Given the description of an element on the screen output the (x, y) to click on. 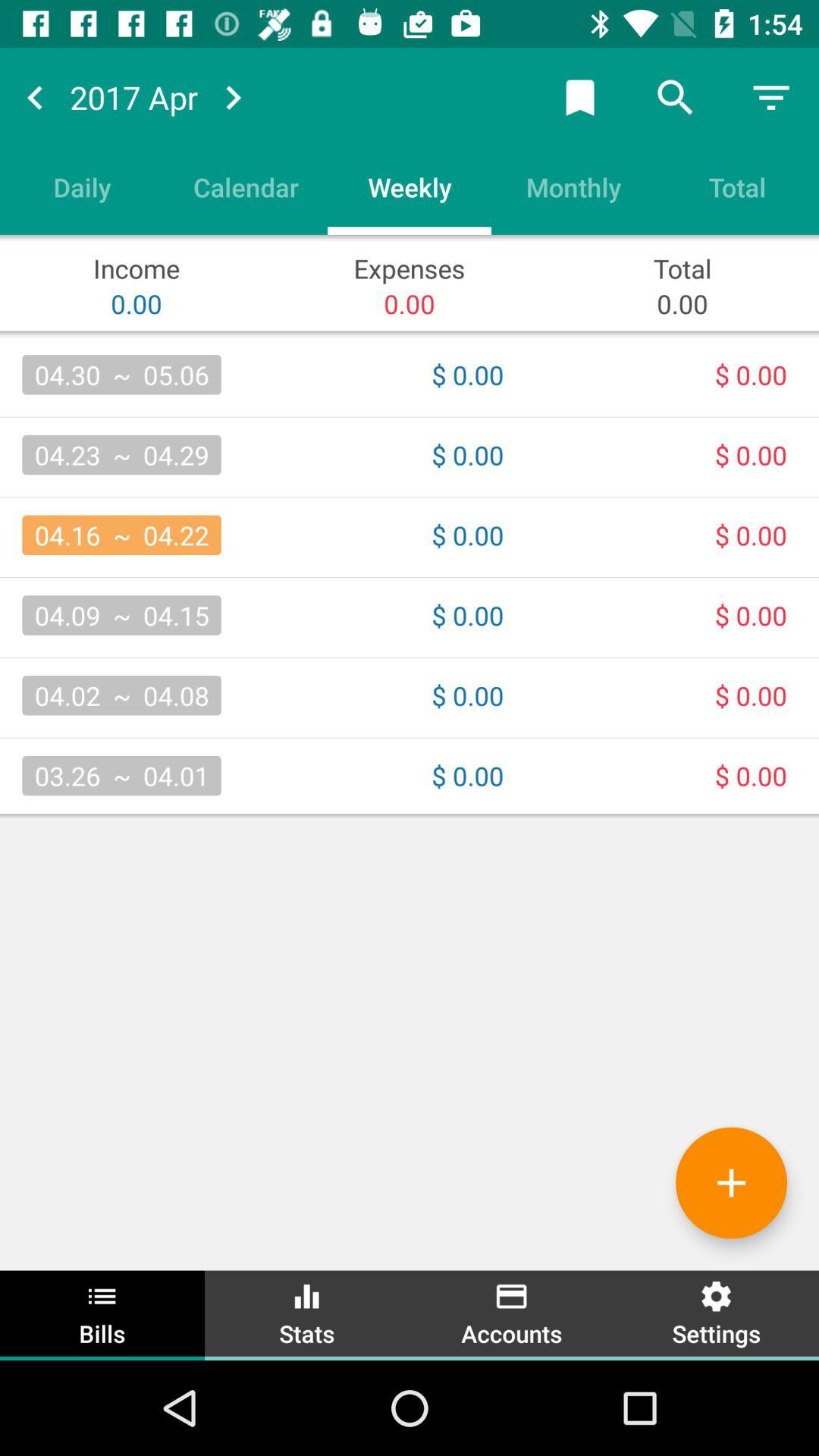
press item next to the weekly icon (245, 186)
